Given the description of an element on the screen output the (x, y) to click on. 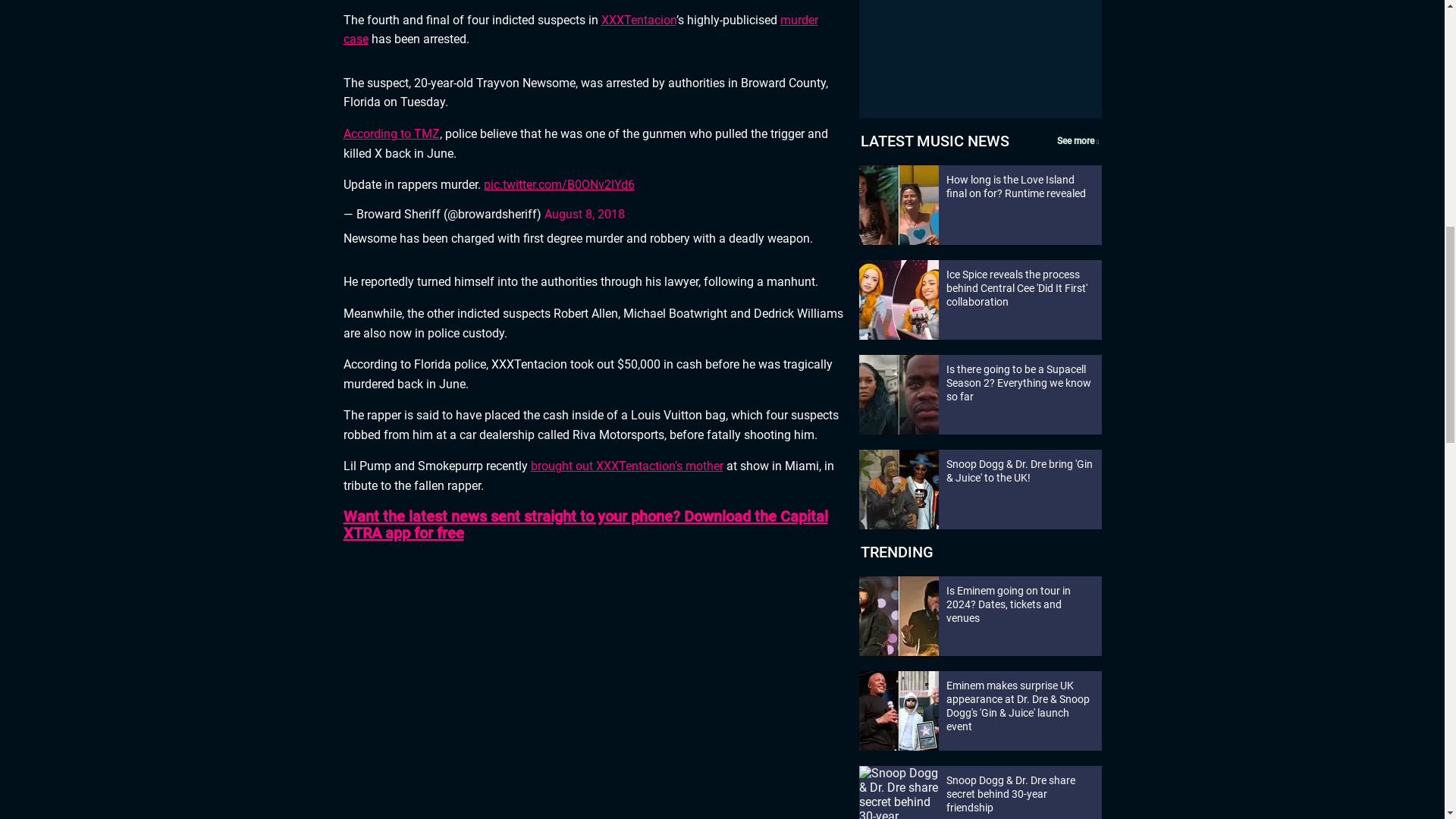
August 8, 2018 (584, 214)
XXXTentacion (637, 20)
murder case (579, 29)
According to TMZ (390, 133)
